Given the description of an element on the screen output the (x, y) to click on. 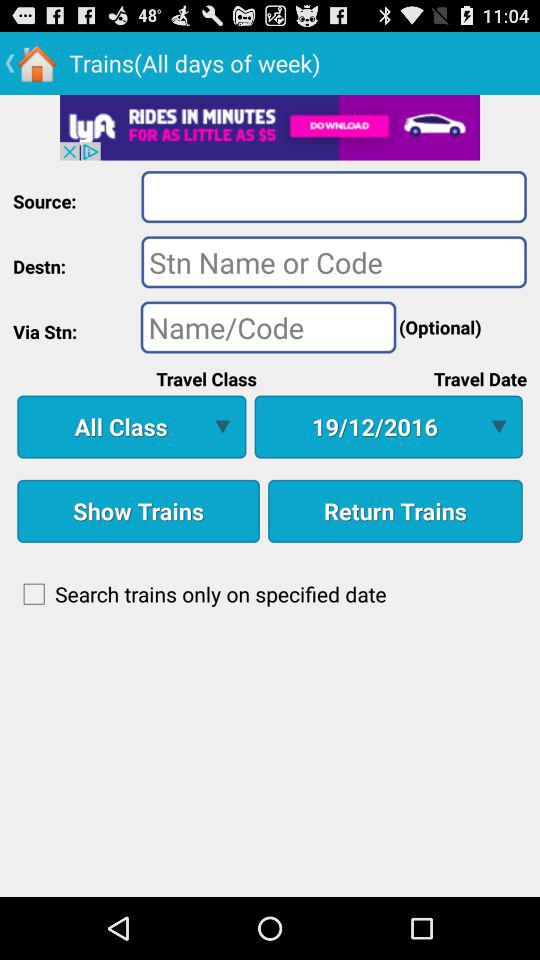
enter the source name (333, 196)
